Given the description of an element on the screen output the (x, y) to click on. 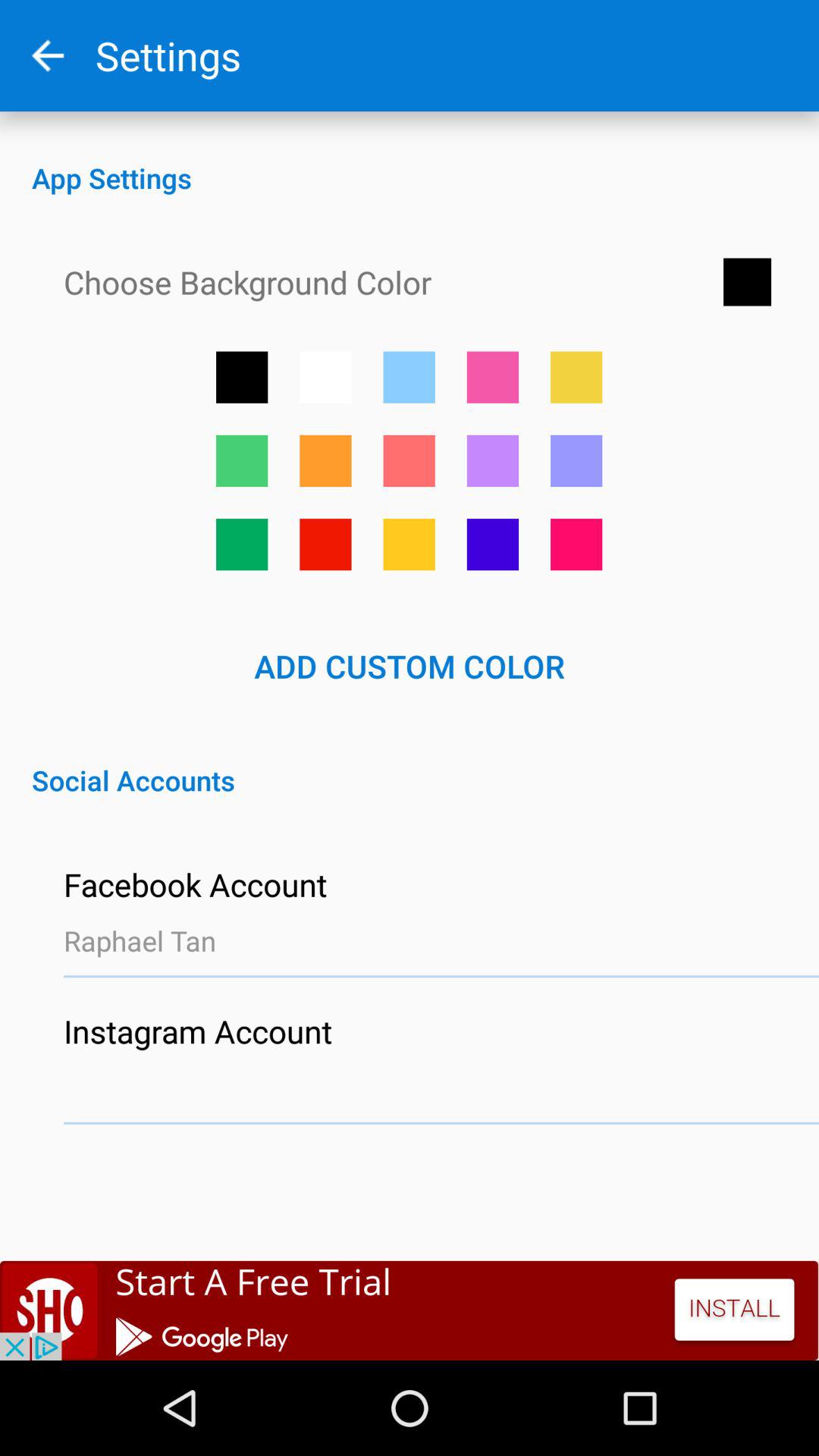
select color (325, 460)
